Given the description of an element on the screen output the (x, y) to click on. 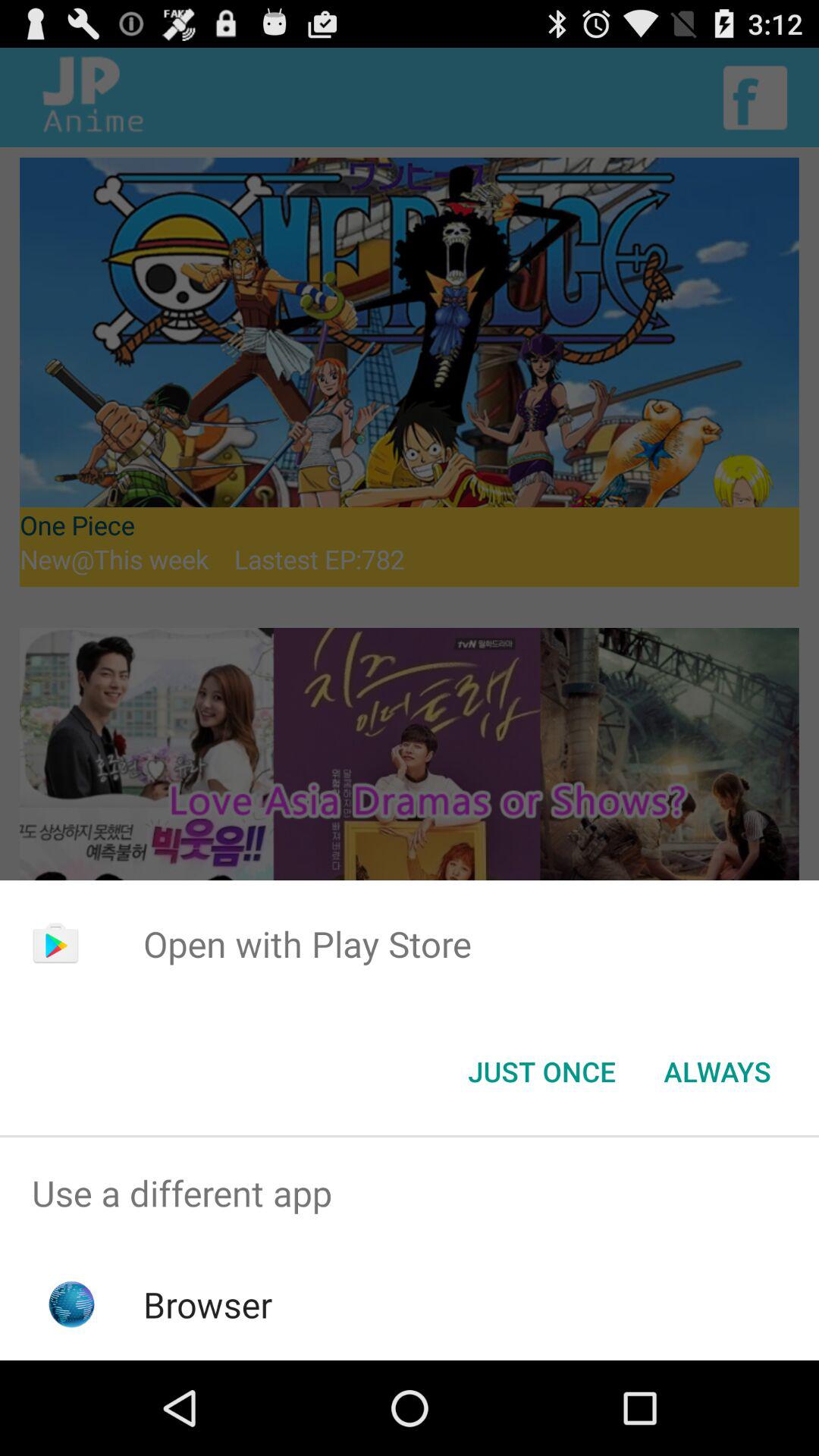
choose always item (717, 1071)
